Given the description of an element on the screen output the (x, y) to click on. 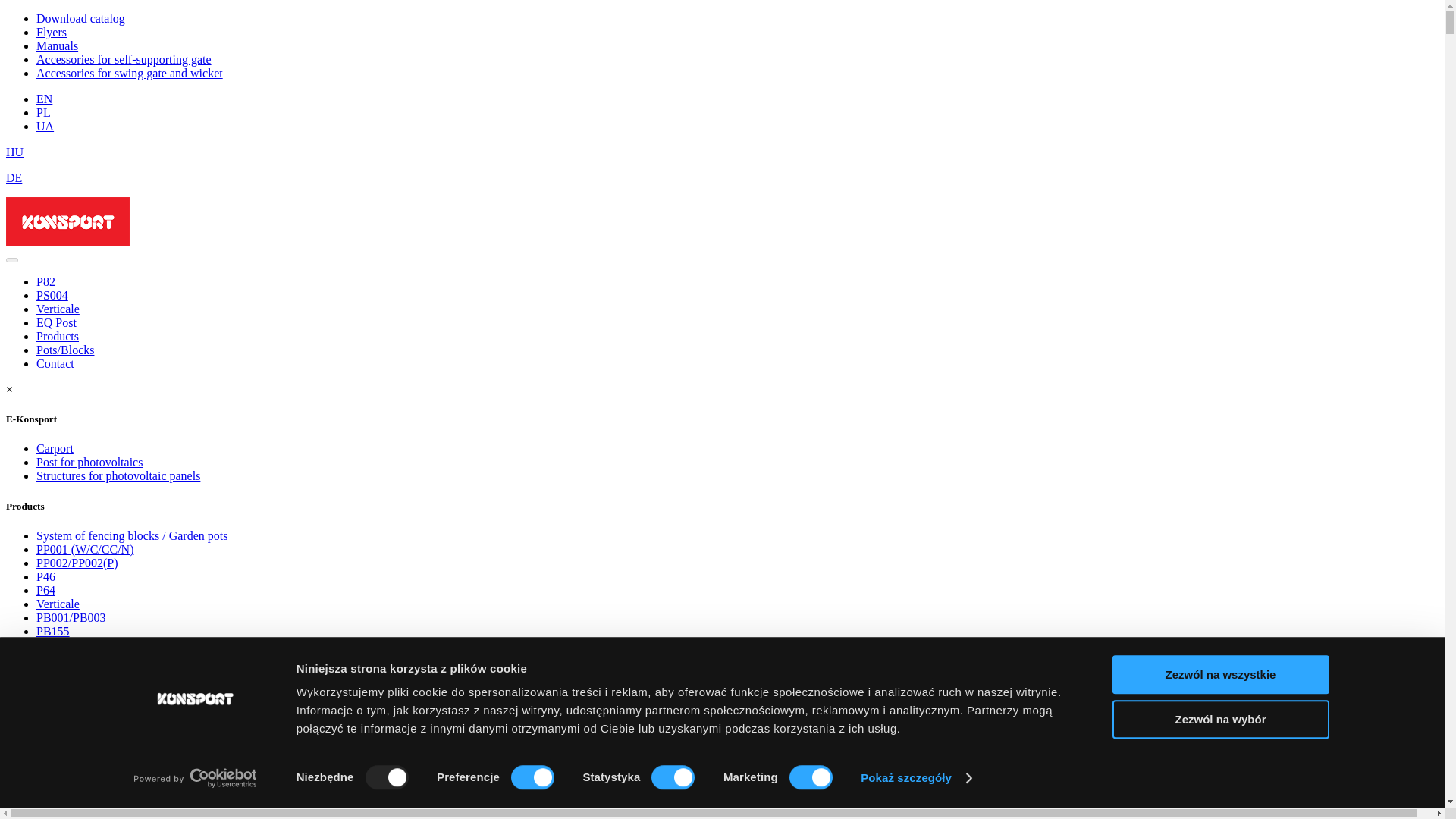
P82 (45, 281)
Verticale (58, 308)
PS004 (52, 295)
EQ Post (56, 322)
Products (57, 336)
